Given the description of an element on the screen output the (x, y) to click on. 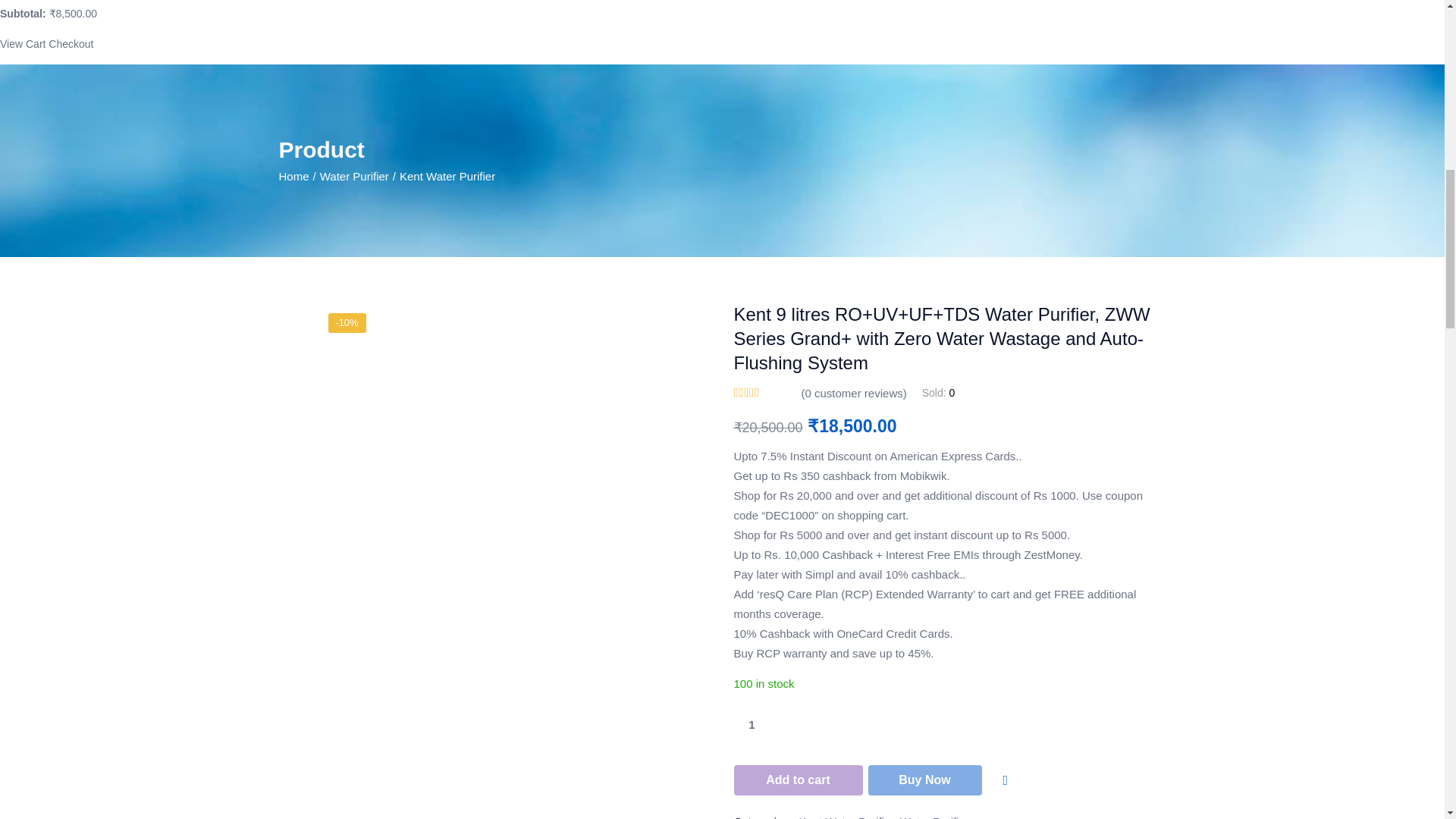
1 (751, 725)
